Given the description of an element on the screen output the (x, y) to click on. 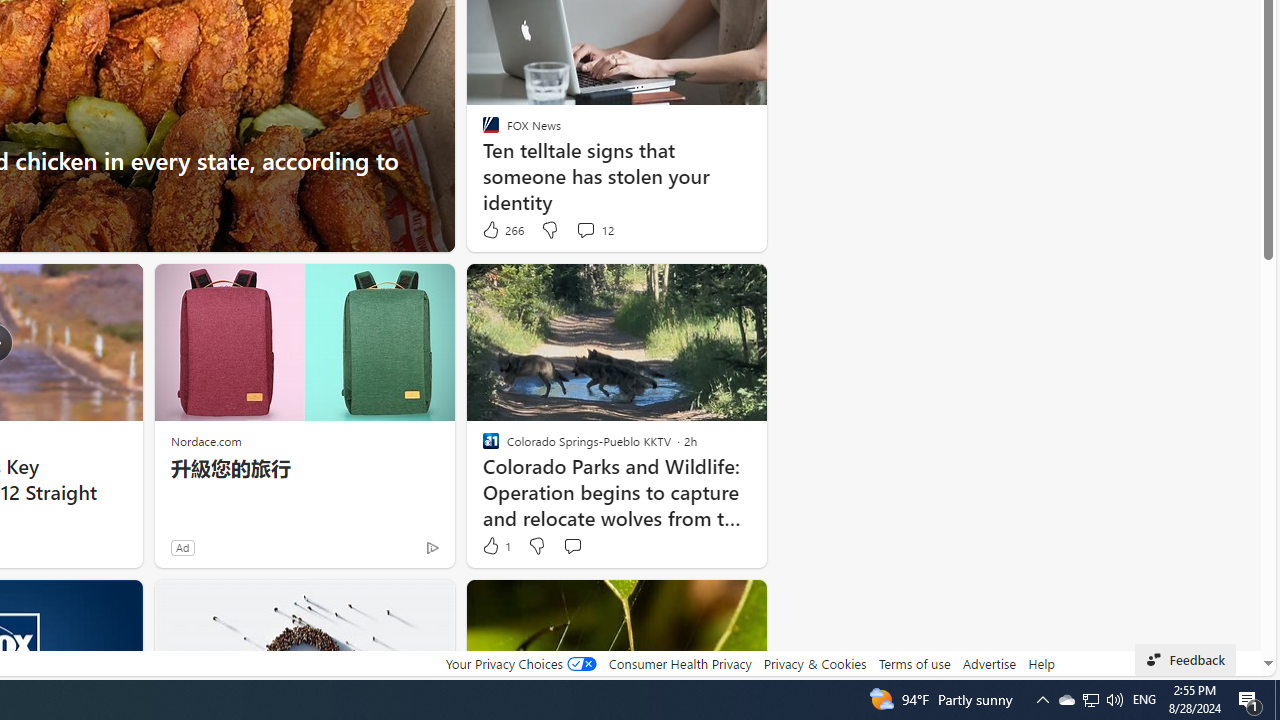
View comments 12 Comment (585, 229)
Consumer Health Privacy (680, 663)
Start the conversation (572, 546)
Hide this story (706, 603)
Ad Choice (432, 547)
